Given the description of an element on the screen output the (x, y) to click on. 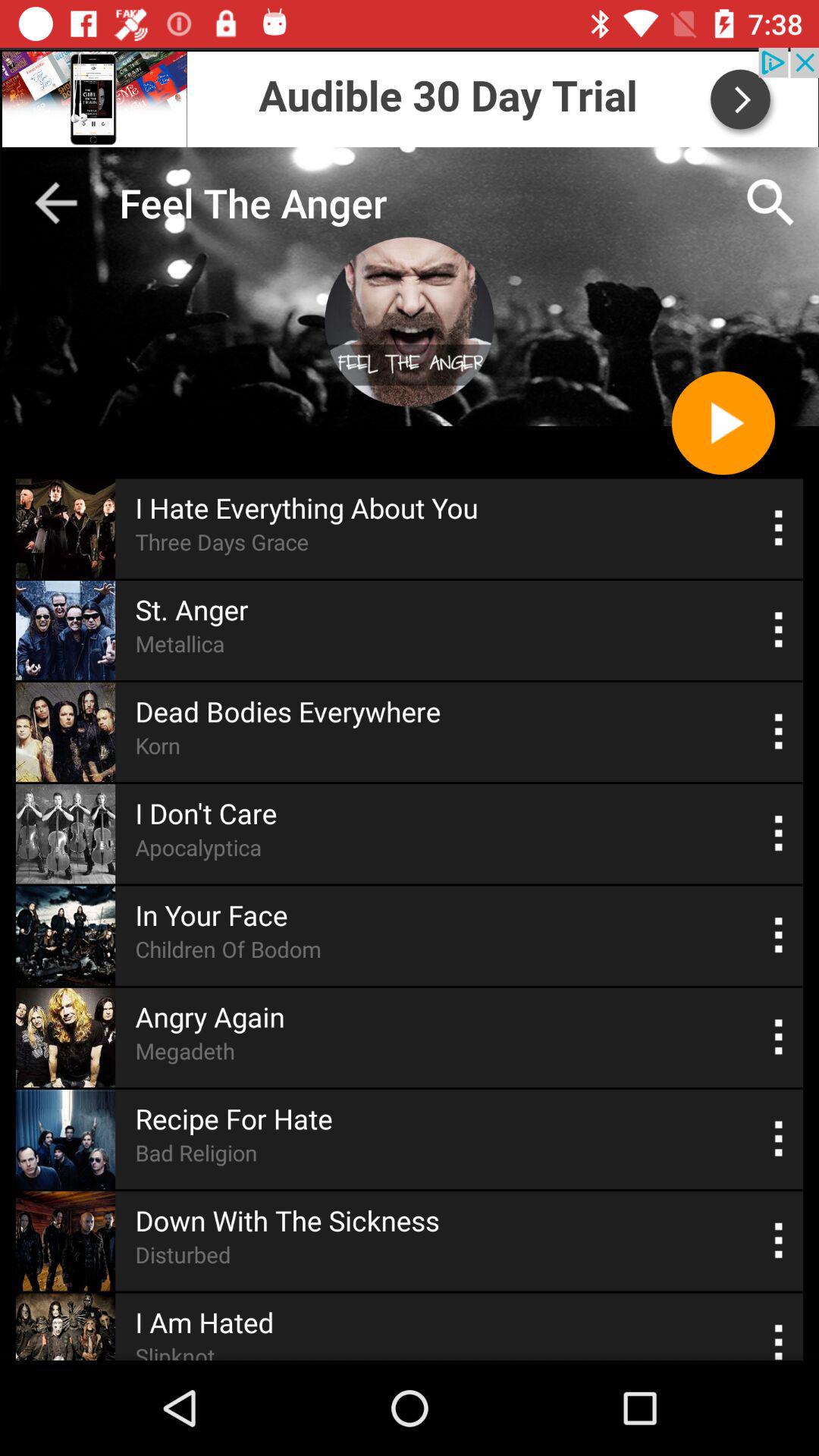
show more options for track (779, 833)
